Given the description of an element on the screen output the (x, y) to click on. 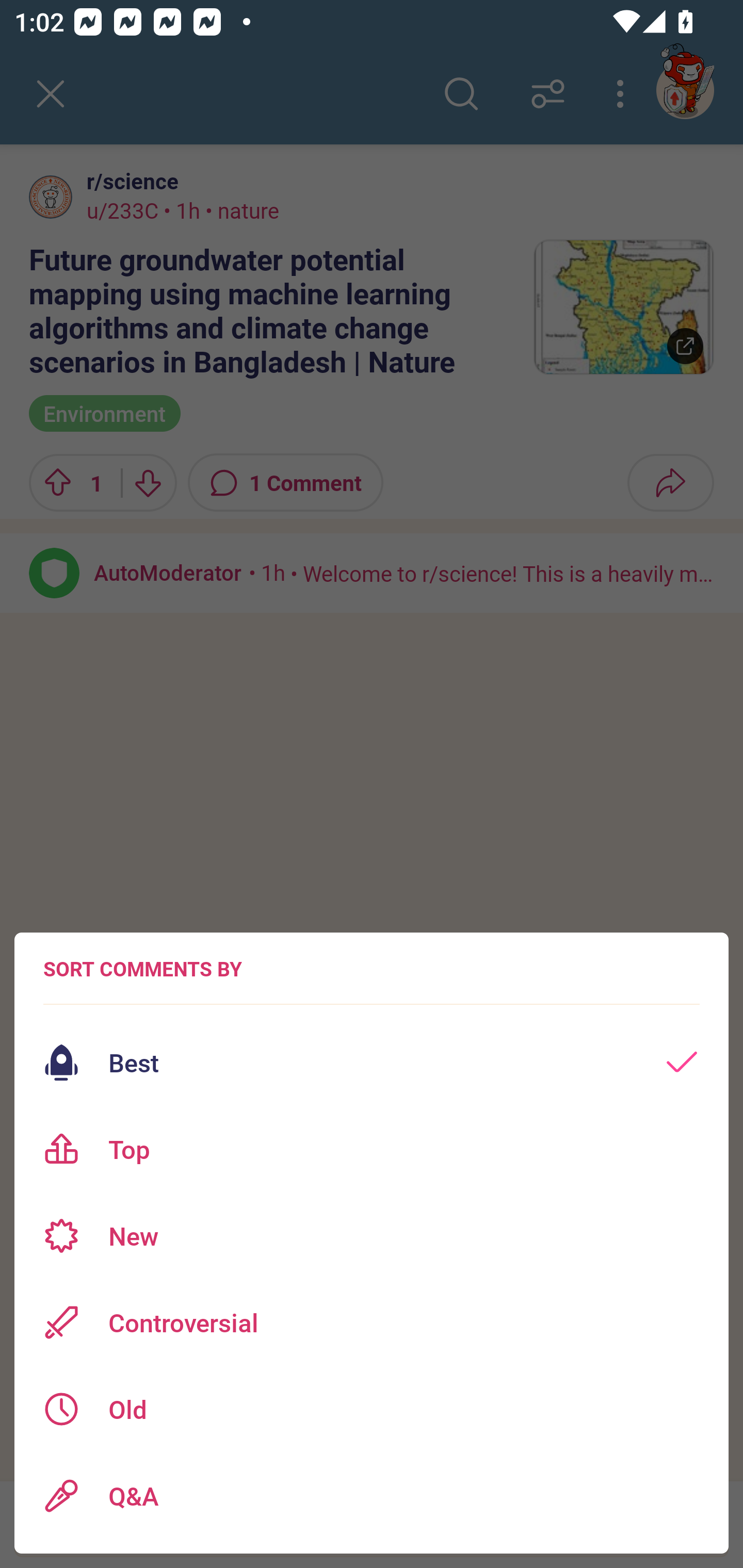
SORT COMMENTS BY Sort comments options (142, 968)
Best (371, 1062)
Top (371, 1149)
New (371, 1236)
Controversial (371, 1322)
Old (371, 1408)
Q&A (371, 1495)
